Given the description of an element on the screen output the (x, y) to click on. 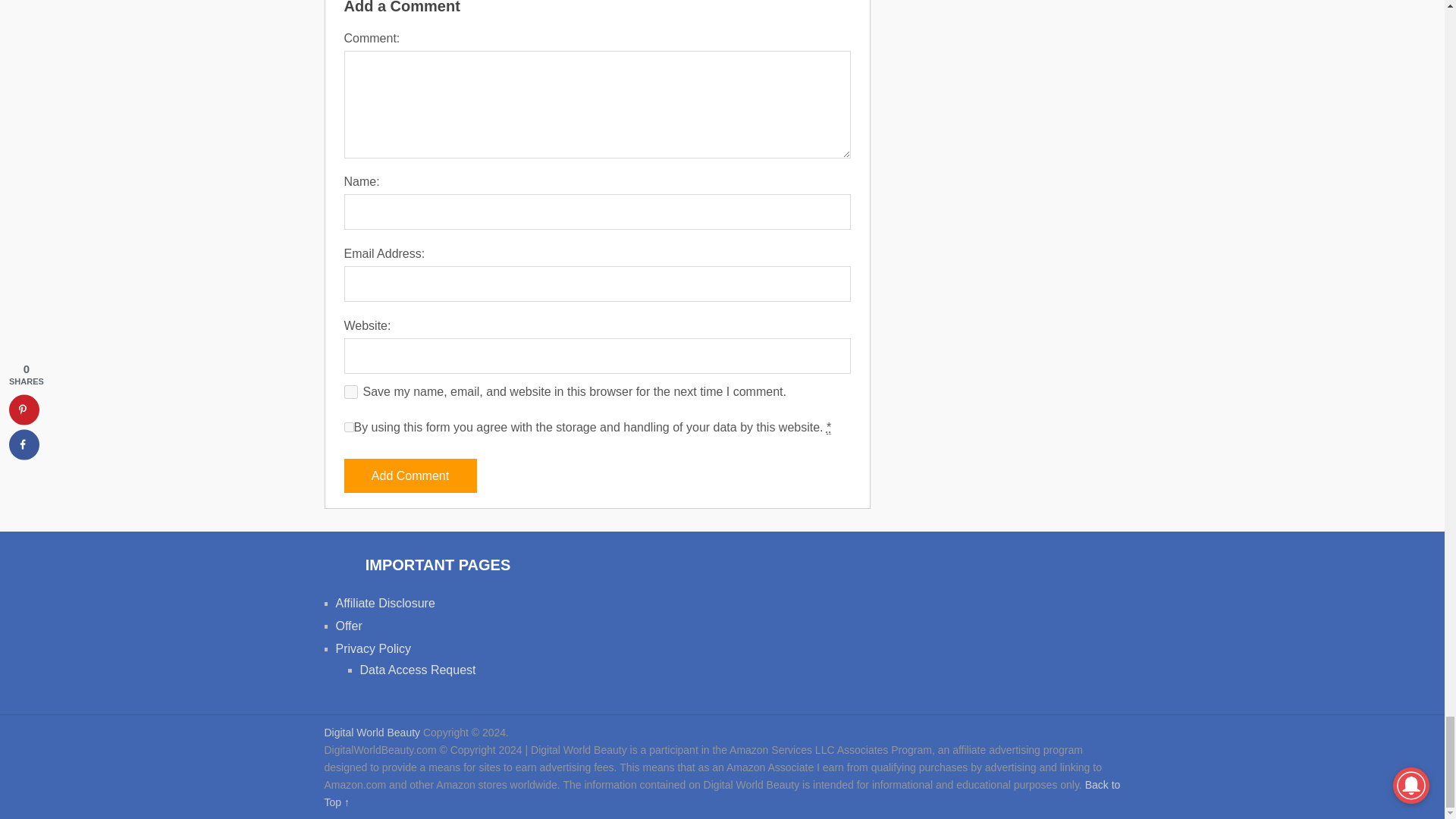
Add Comment (410, 475)
yes (350, 391)
